Given the description of an element on the screen output the (x, y) to click on. 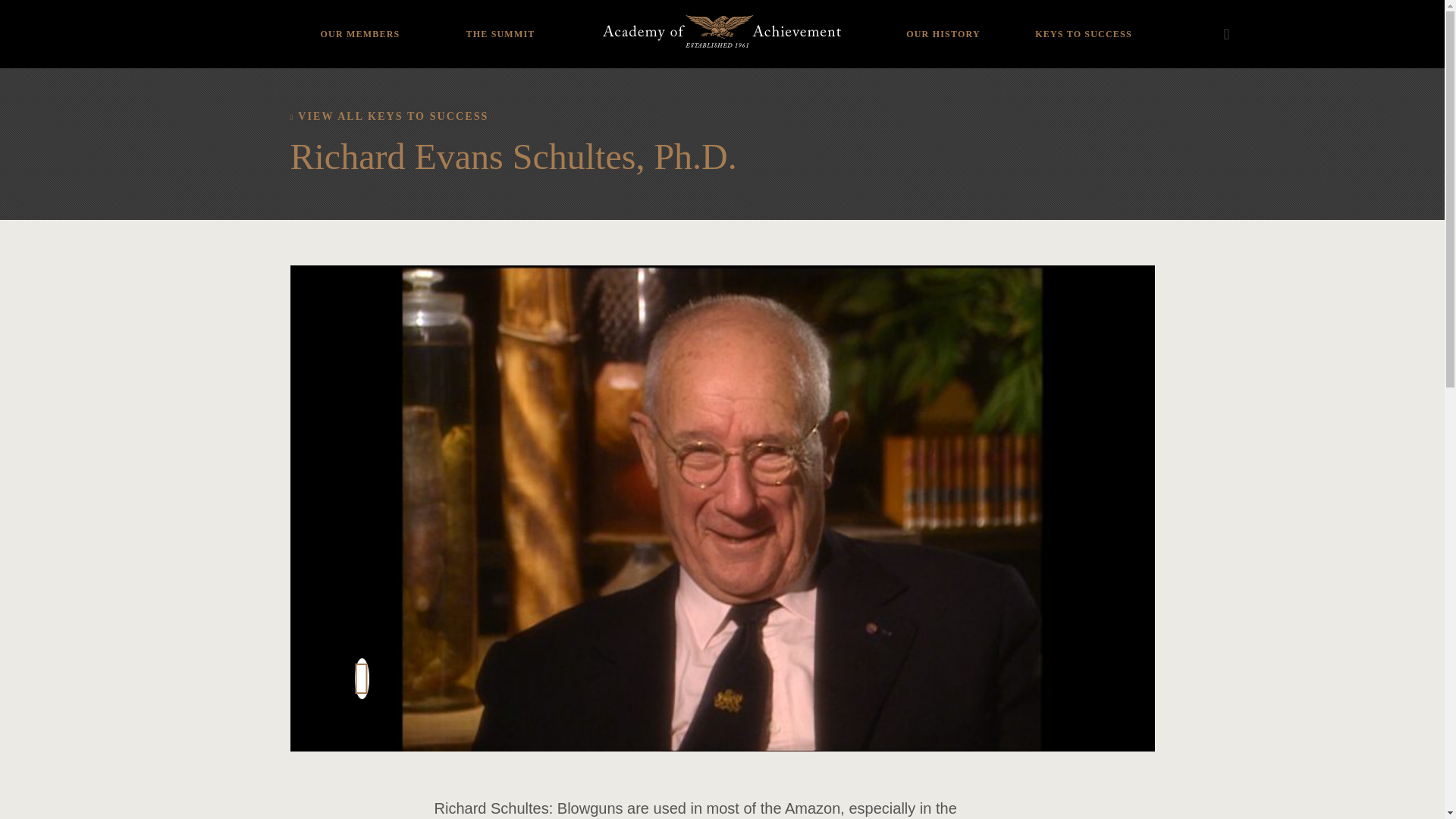
OUR HISTORY (943, 22)
SPORTS (359, 5)
2002 (464, 23)
KEYS TO SUCCESS (1083, 22)
ACHIEVER UNIVERSE (359, 23)
2003 (464, 5)
OUR MEMBERS (359, 22)
THE SUMMIT (500, 22)
GOLDEN PLATE AWARDEES (943, 18)
